Given the description of an element on the screen output the (x, y) to click on. 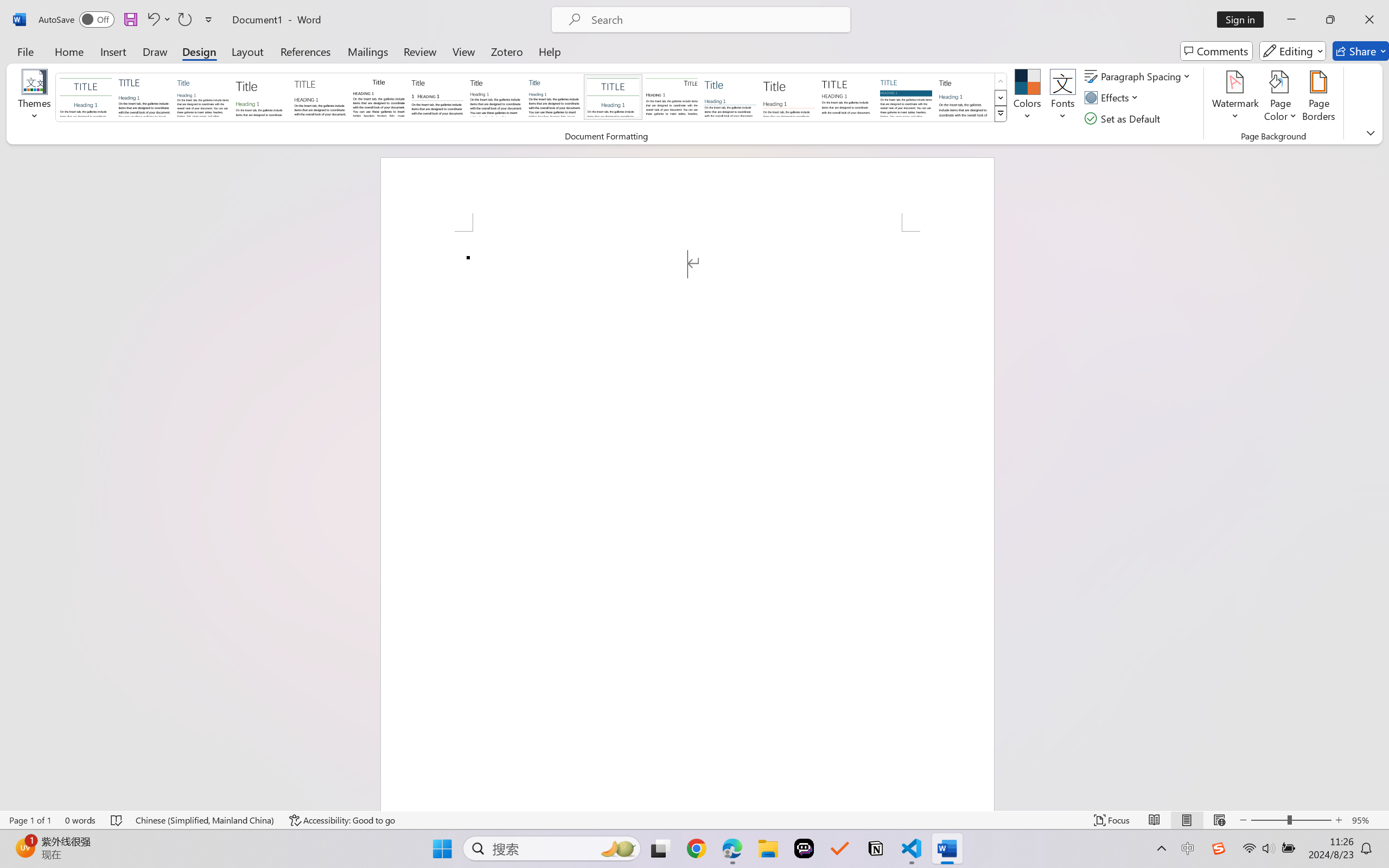
Page Color (1280, 97)
Fonts (1062, 97)
Basic (Simple) (202, 96)
AutomationID: QuickStylesSets (531, 97)
Undo Apply Quick Style Set (158, 19)
Black & White (Capitalized) (320, 96)
Lines (Distinctive) (671, 96)
Centered (612, 96)
